Given the description of an element on the screen output the (x, y) to click on. 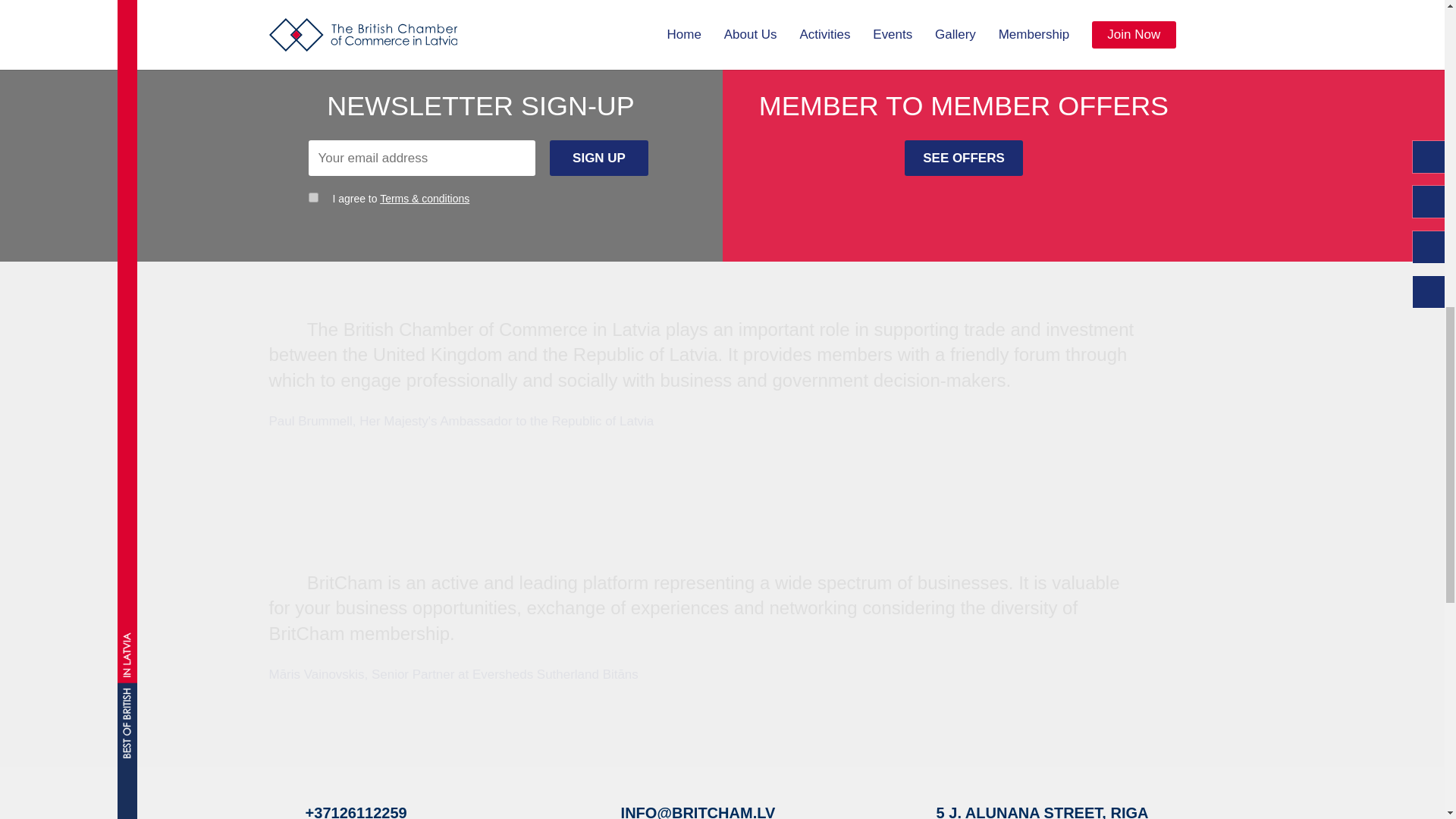
SEE OFFERS (963, 158)
1 (312, 197)
Sign up (598, 158)
Sign up (598, 158)
